Given the description of an element on the screen output the (x, y) to click on. 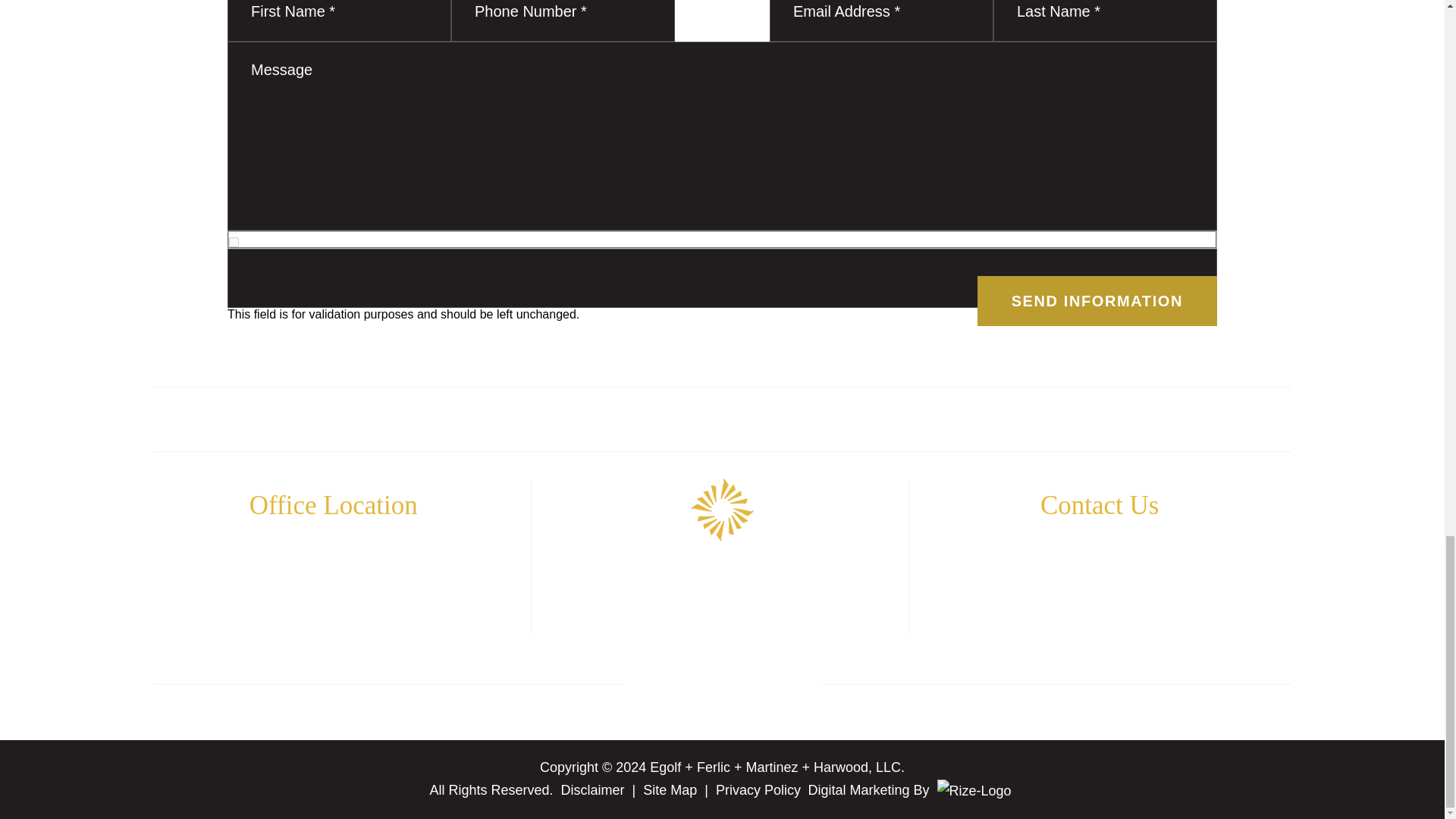
Send Information (1096, 300)
